Given the description of an element on the screen output the (x, y) to click on. 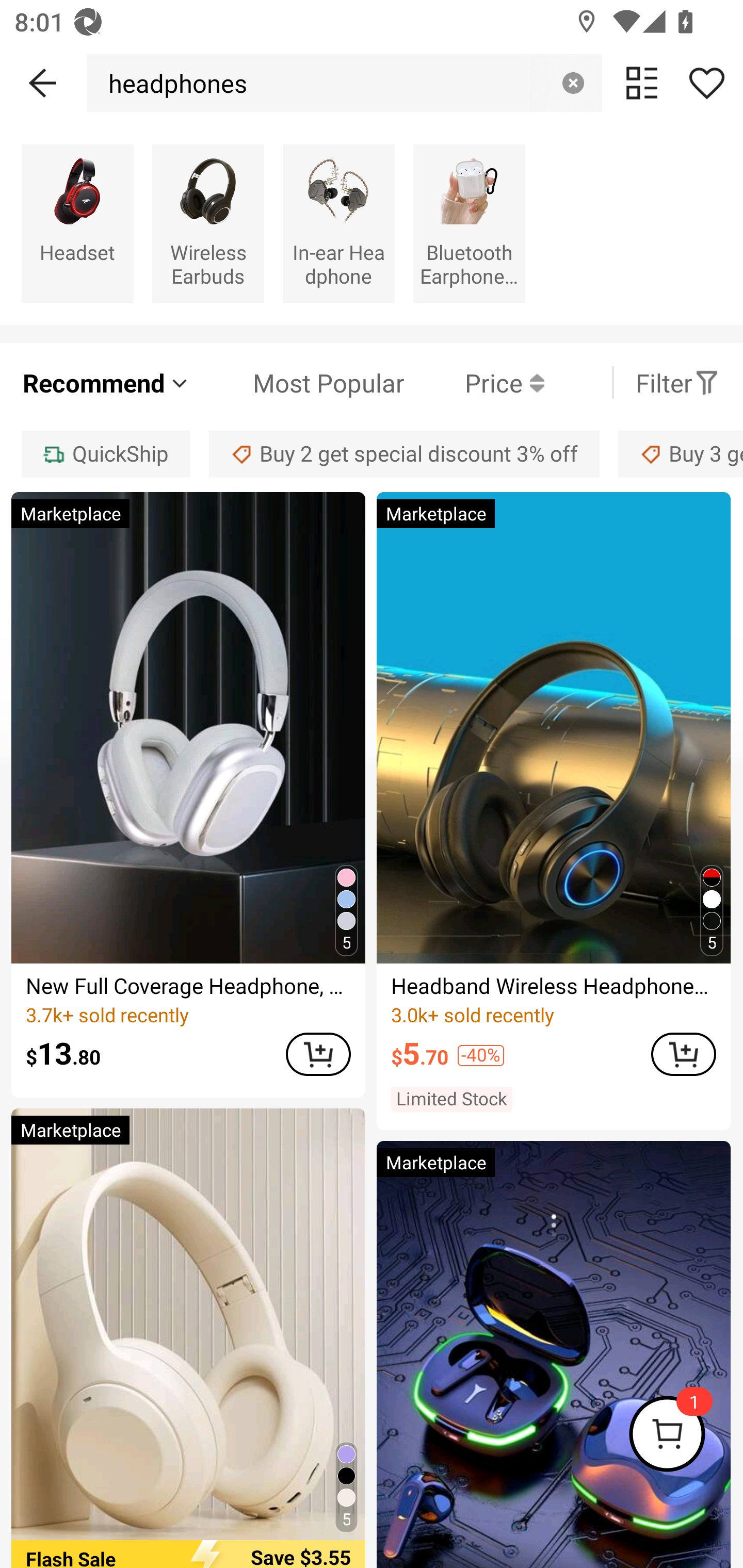
headphones (171, 82)
Clear (572, 82)
change view (641, 82)
Share (706, 82)
Headset (77, 223)
Wireless Earbuds (208, 223)
In-ear Headphone (338, 223)
Bluetooth Earphone Cases (469, 223)
Recommend (106, 382)
Most Popular (297, 382)
Price (474, 382)
Filter (677, 382)
QuickShip (105, 454)
Buy 2 get special discount 3% off (403, 454)
Buy 3 get special discount 1% off (680, 454)
ADD TO CART (318, 1054)
ADD TO CART (683, 1054)
